Given the description of an element on the screen output the (x, y) to click on. 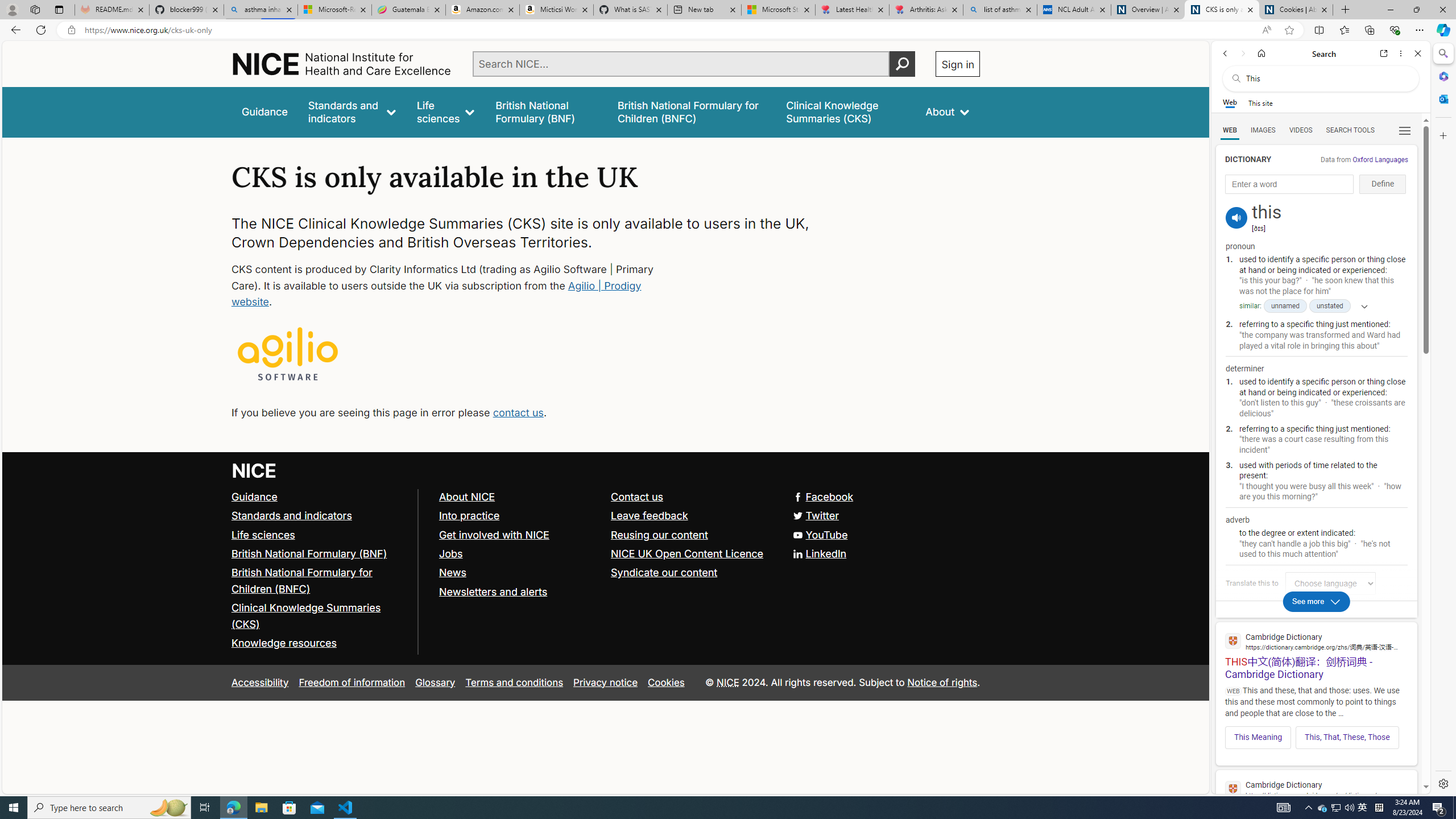
Workspaces (34, 9)
Outlook (1442, 98)
Link for logging (1333, 582)
false (845, 111)
Address and search bar (669, 29)
YouTube (605, 534)
Close Customize pane (1442, 135)
Newsletters and alerts (492, 591)
NICE UK Open Content Licence (687, 553)
This site scope (1259, 102)
SEARCH TOOLS (1350, 130)
Life sciences (446, 111)
